Given the description of an element on the screen output the (x, y) to click on. 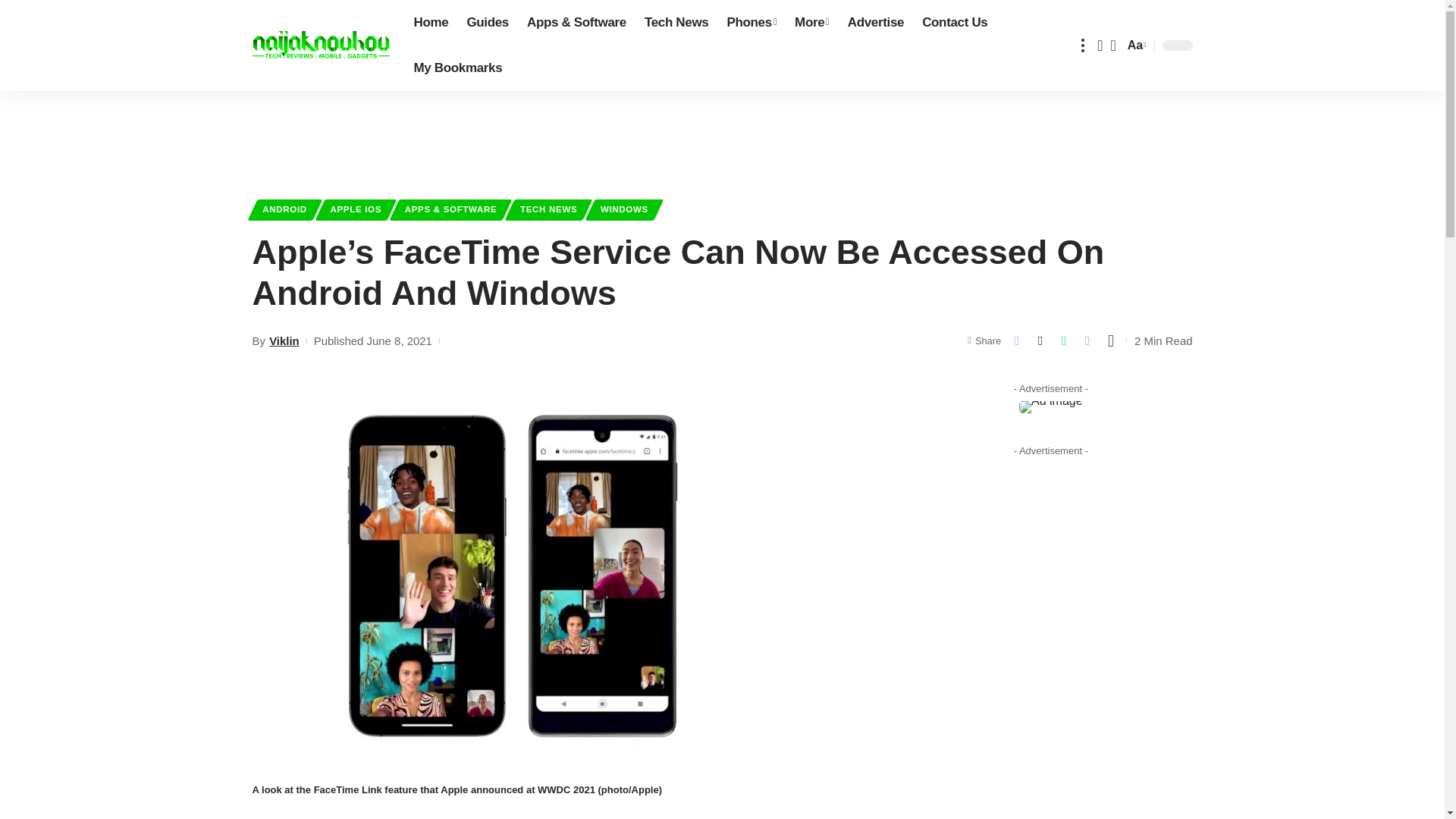
Tech News (675, 22)
Home (431, 22)
Guides (487, 22)
Phones (751, 22)
More (812, 22)
Naijaknowhow (319, 44)
